Given the description of an element on the screen output the (x, y) to click on. 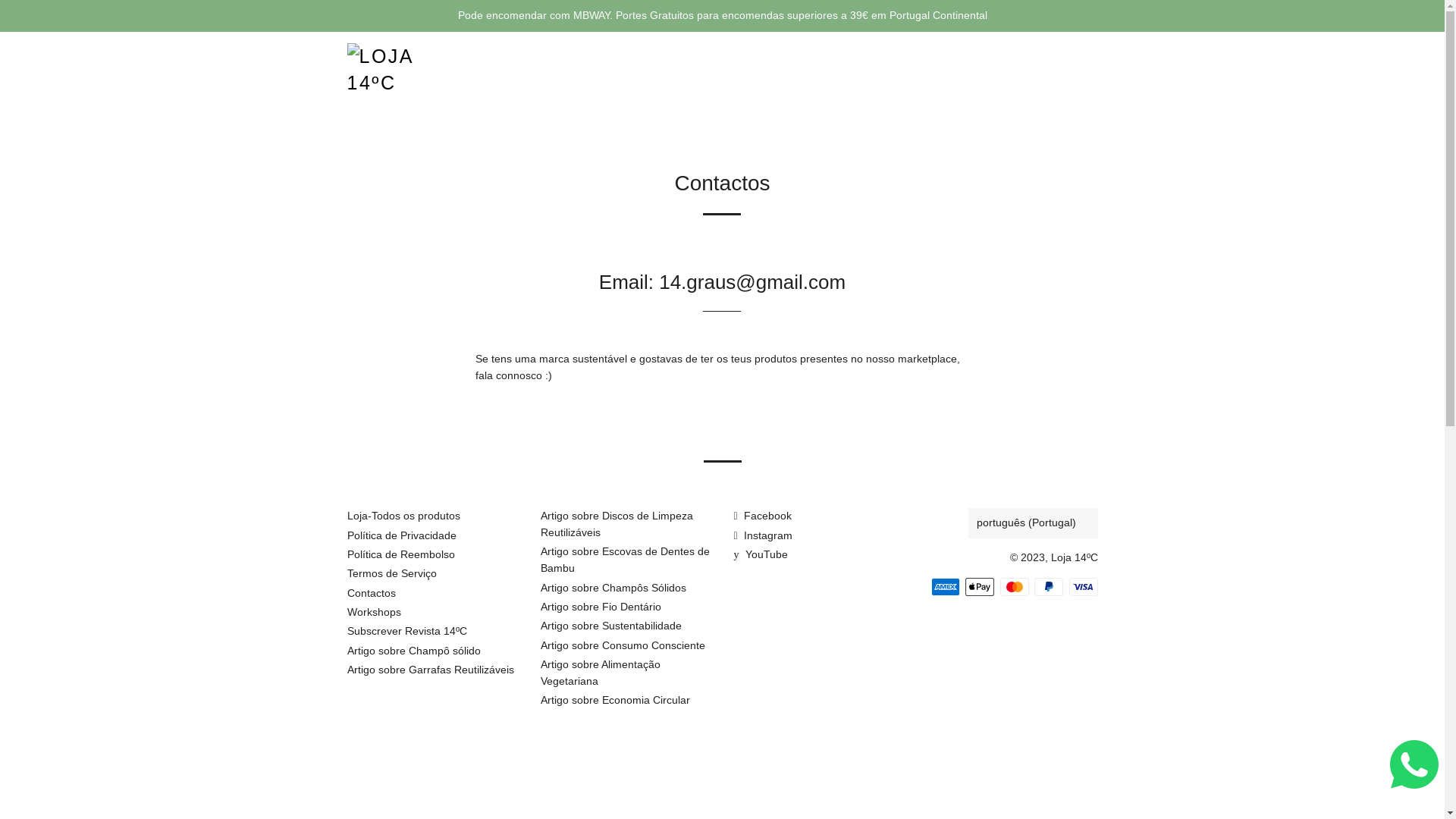
Loja-Todos os produtos Element type: text (403, 515)
Workshops Element type: text (374, 611)
Artigo sobre Consumo Consciente Element type: text (621, 645)
Instagram Element type: text (763, 535)
Facebook Element type: text (762, 515)
Artigo sobre Economia Circular Element type: text (614, 699)
Artigo sobre Escovas de Dentes de Bambu Element type: text (624, 559)
Artigo sobre Sustentabilidade Element type: text (609, 625)
YouTube Element type: text (760, 554)
Contactos Element type: text (371, 592)
